Given the description of an element on the screen output the (x, y) to click on. 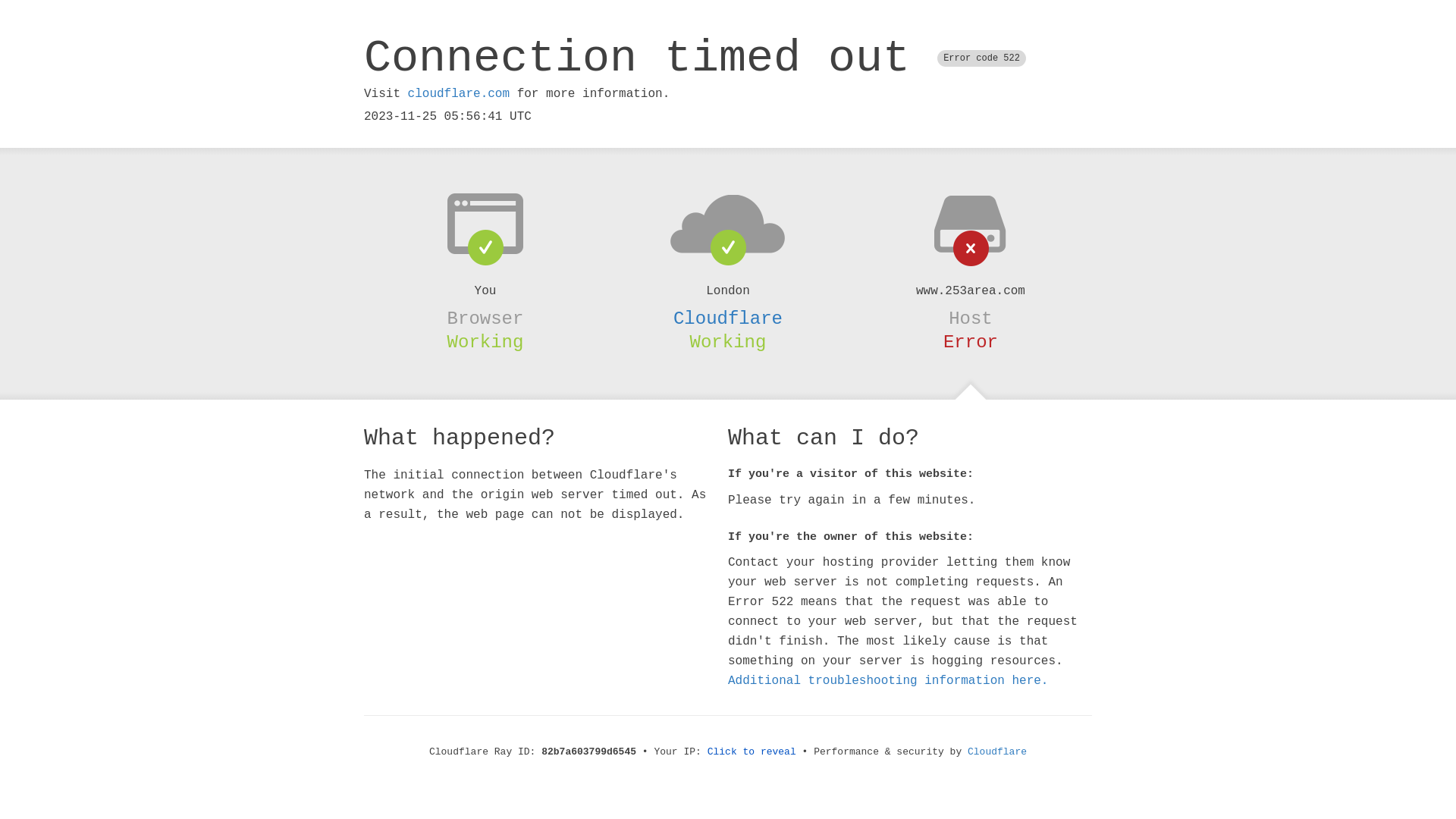
Click to reveal Element type: text (751, 751)
cloudflare.com Element type: text (458, 93)
Additional troubleshooting information here. Element type: text (888, 680)
Cloudflare Element type: text (727, 318)
Cloudflare Element type: text (996, 751)
